Given the description of an element on the screen output the (x, y) to click on. 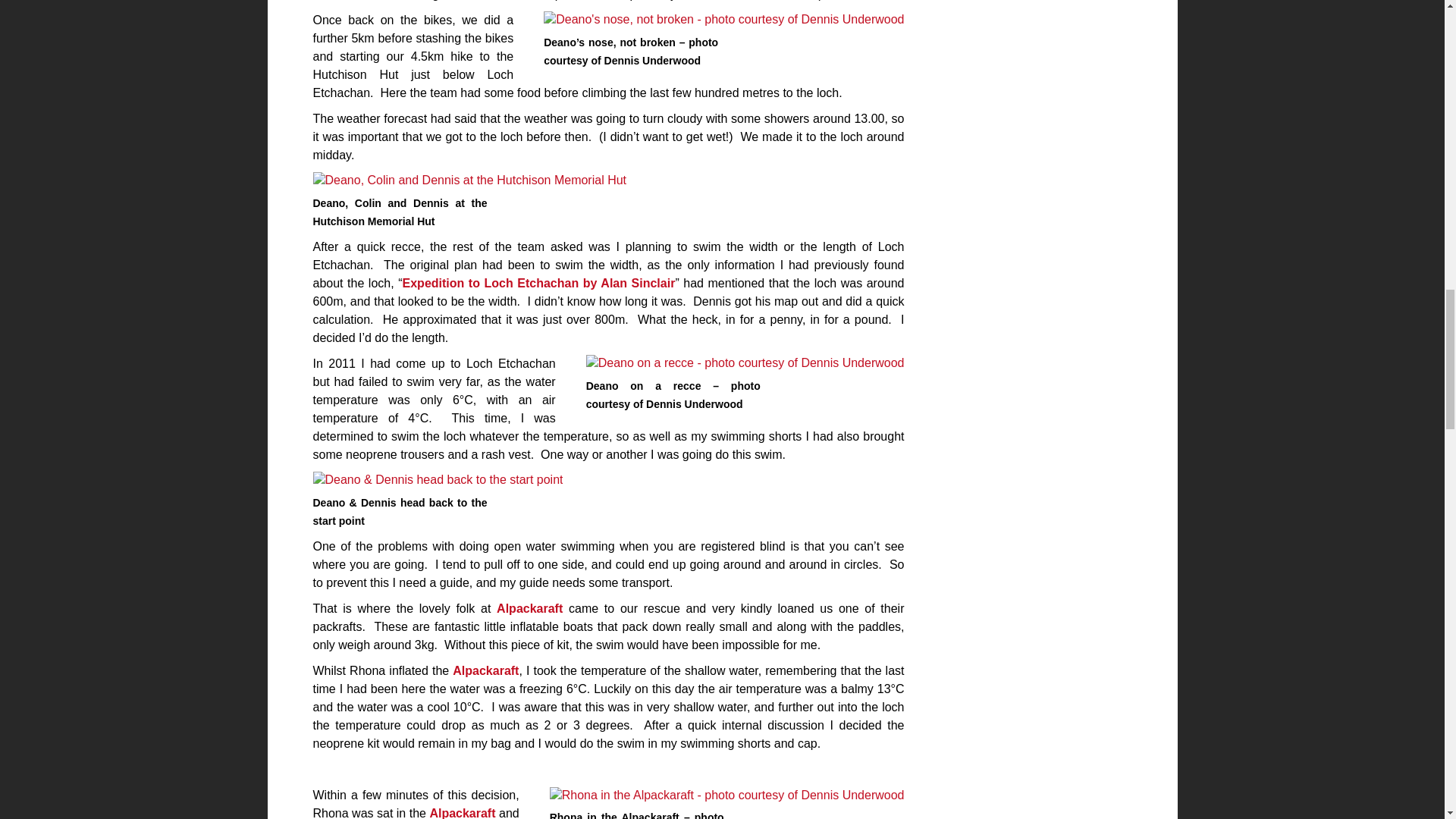
Alpackaraft.com (529, 608)
Expedition to Loch Etchachan by Alan Sinclair (539, 282)
Alpackaraft (462, 812)
Expedition to Loch Etchachan by Alan Sinclair (539, 282)
Alpackaraft (485, 670)
Alpackaraft.com (485, 670)
Alpackaraft.com (462, 812)
Alpackaraft (529, 608)
